Given the description of an element on the screen output the (x, y) to click on. 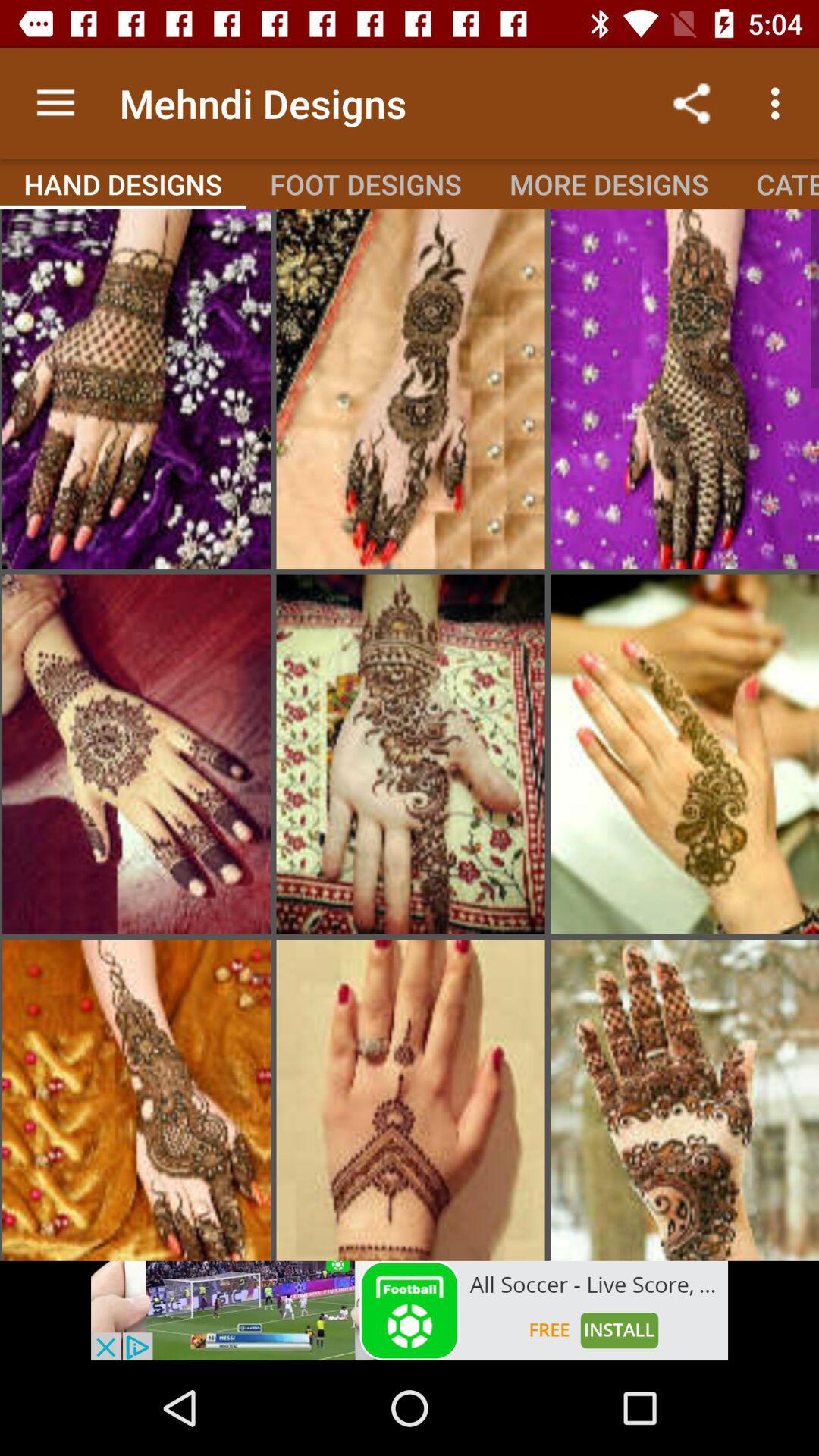
go to picture (136, 388)
